Given the description of an element on the screen output the (x, y) to click on. 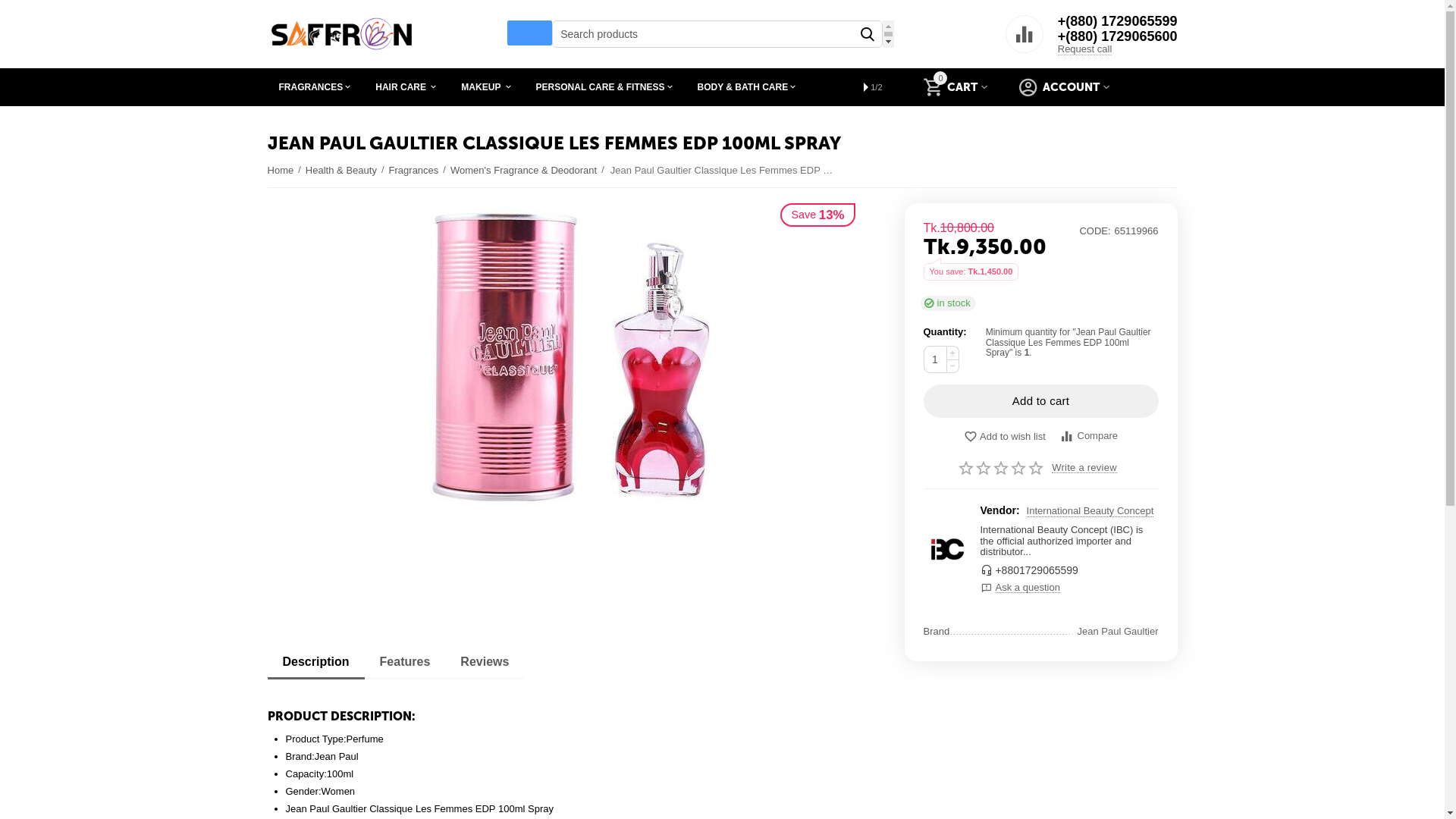
PERSONAL CARE & FITNESS Element type: text (605, 87)
Search Element type: hover (867, 33)
BODY & BATH CARE Element type: text (747, 87)
Add to cart Element type: text (1040, 400)
Home Element type: text (279, 170)
Add to wish list Element type: text (1004, 437)
ACCOUNT Element type: text (1064, 86)
+(880) 1729065600 Element type: text (1117, 35)
View Comparison list Element type: hover (1024, 42)
International Beauty Concept Element type: text (1090, 511)
Description Element type: text (315, 661)
Write a review Element type: text (1084, 467)
BrandJean Paul Gaultier Element type: text (1040, 630)
Fragrances Element type: text (414, 170)
Request call Element type: text (1084, 49)
Health & Beauty Element type: text (340, 170)
Search products Element type: hover (717, 33)
0
CART Element type: text (955, 86)
MAKEUP Element type: text (486, 87)
FRAGRANCES Element type: text (315, 87)
HAIR CARE Element type: text (406, 87)
Women's Fragrance & Deodorant Element type: text (523, 170)
+ Element type: text (952, 352)
Reviews Element type: text (484, 661)
Features Element type: text (404, 661)
Compare Element type: text (1088, 436)
+(880) 1729065599 Element type: text (1117, 20)
Ask a question Element type: text (1068, 584)
Jean Paul Gaultier Classique Les Femmes EDP 100ml Spray Element type: hover (569, 392)
Jean Paul Gaultier Classique Les Femmes EDP 100ml Spray Element type: hover (569, 392)
Saffron Logo Element type: hover (340, 34)
Sundora Element type: hover (946, 548)
Saffron Logo Element type: hover (340, 32)
